Given the description of an element on the screen output the (x, y) to click on. 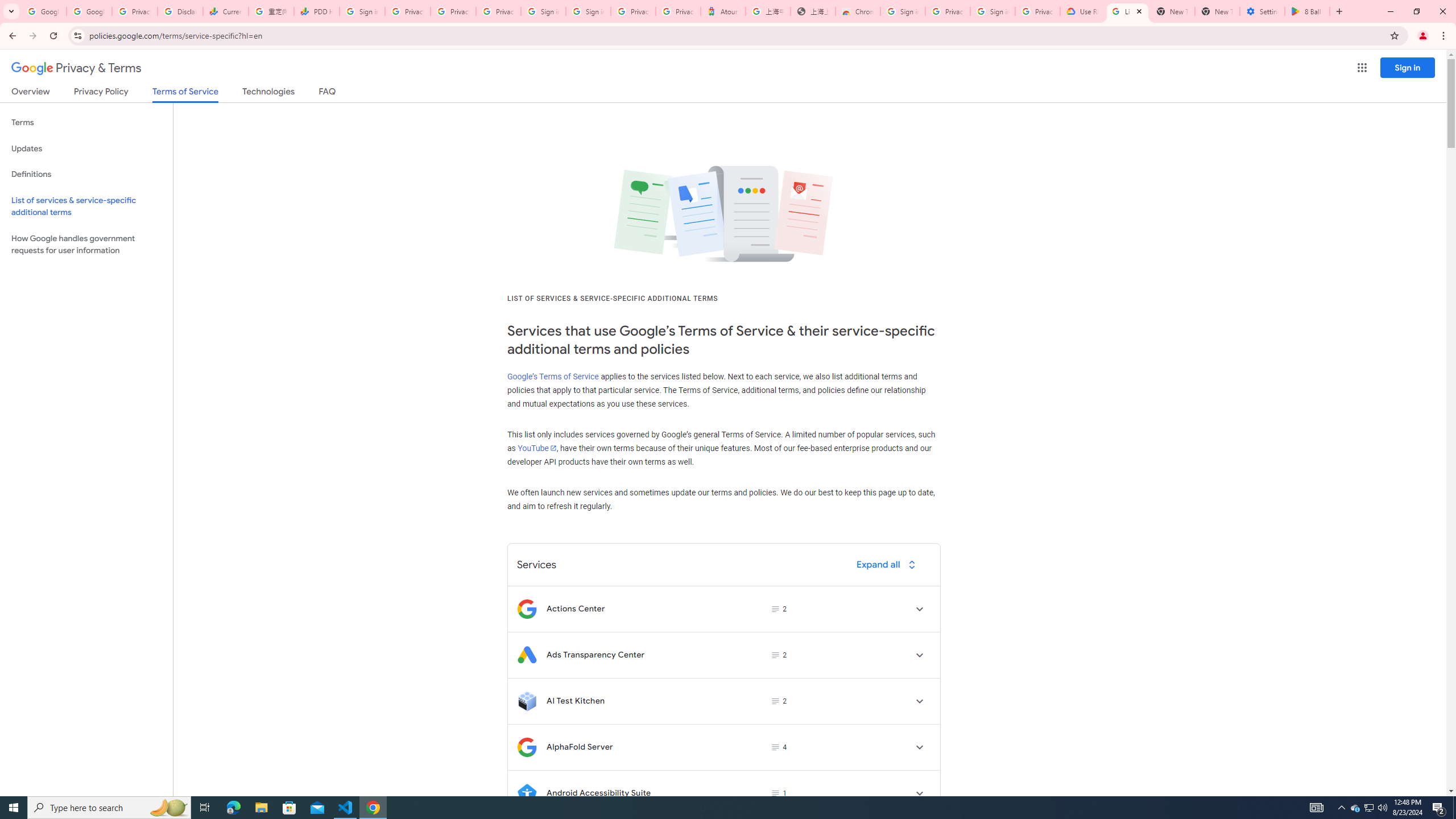
Logo for AlphaFold Server (526, 746)
Logo for Android Accessibility Suite (526, 792)
